Given the description of an element on the screen output the (x, y) to click on. 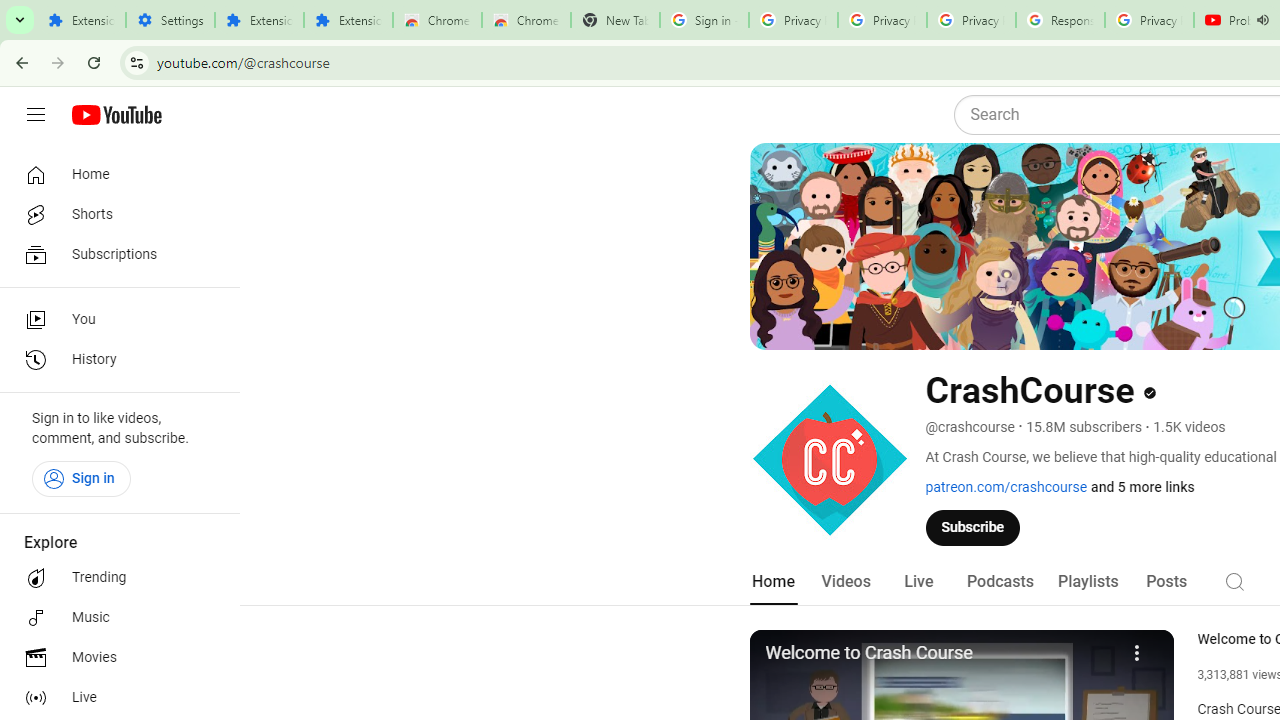
Posts (1165, 581)
